Given the description of an element on the screen output the (x, y) to click on. 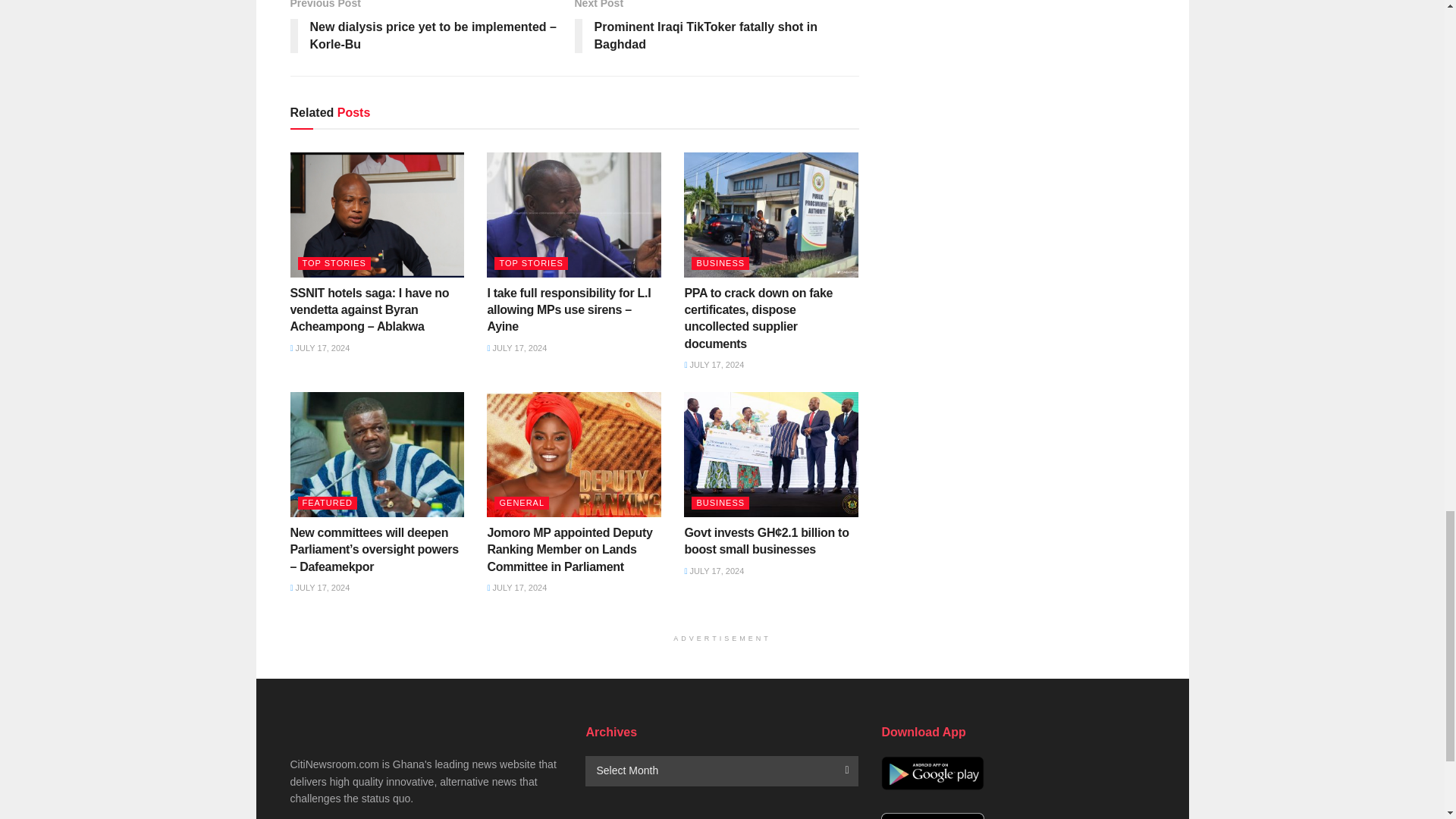
Google Play (932, 772)
App Store (932, 816)
